Given the description of an element on the screen output the (x, y) to click on. 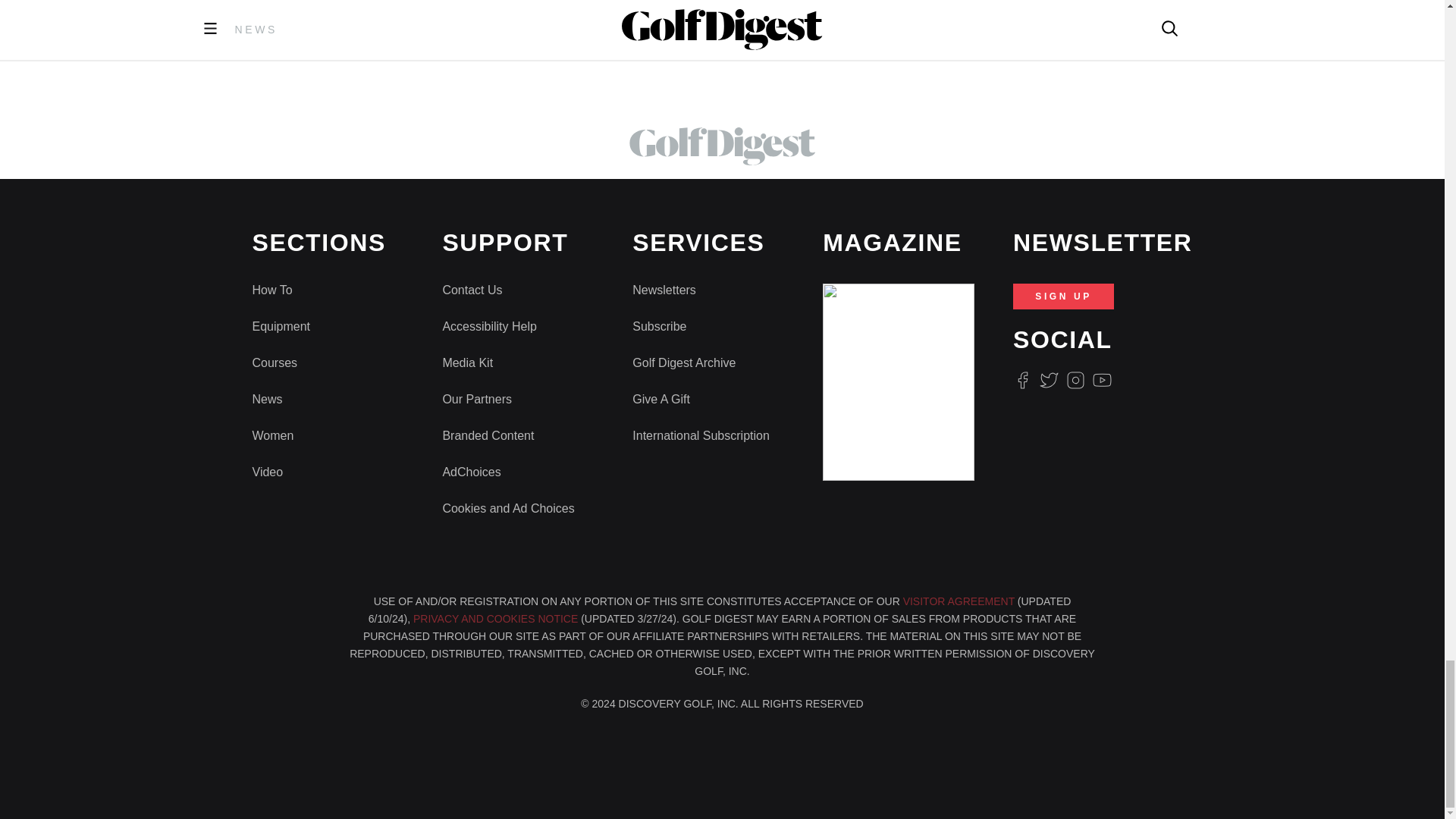
Instagram Logo (1074, 380)
Facebook Logo (1022, 380)
Twitter Logo (1048, 380)
Youtube Icon (1102, 380)
